Given the description of an element on the screen output the (x, y) to click on. 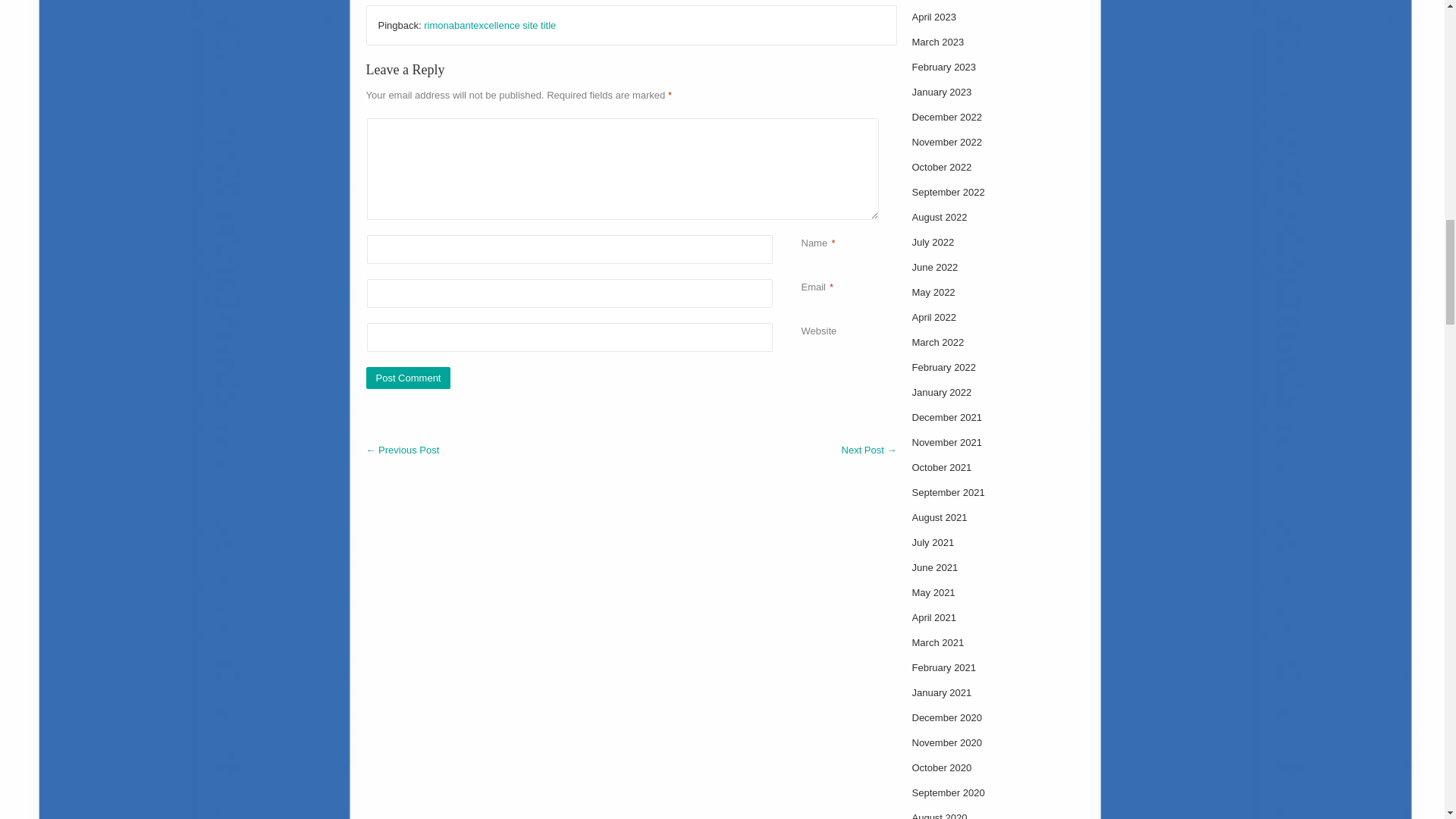
Post Comment (407, 377)
Post Comment (407, 377)
rimonabantexcellence site title (489, 25)
